Given the description of an element on the screen output the (x, y) to click on. 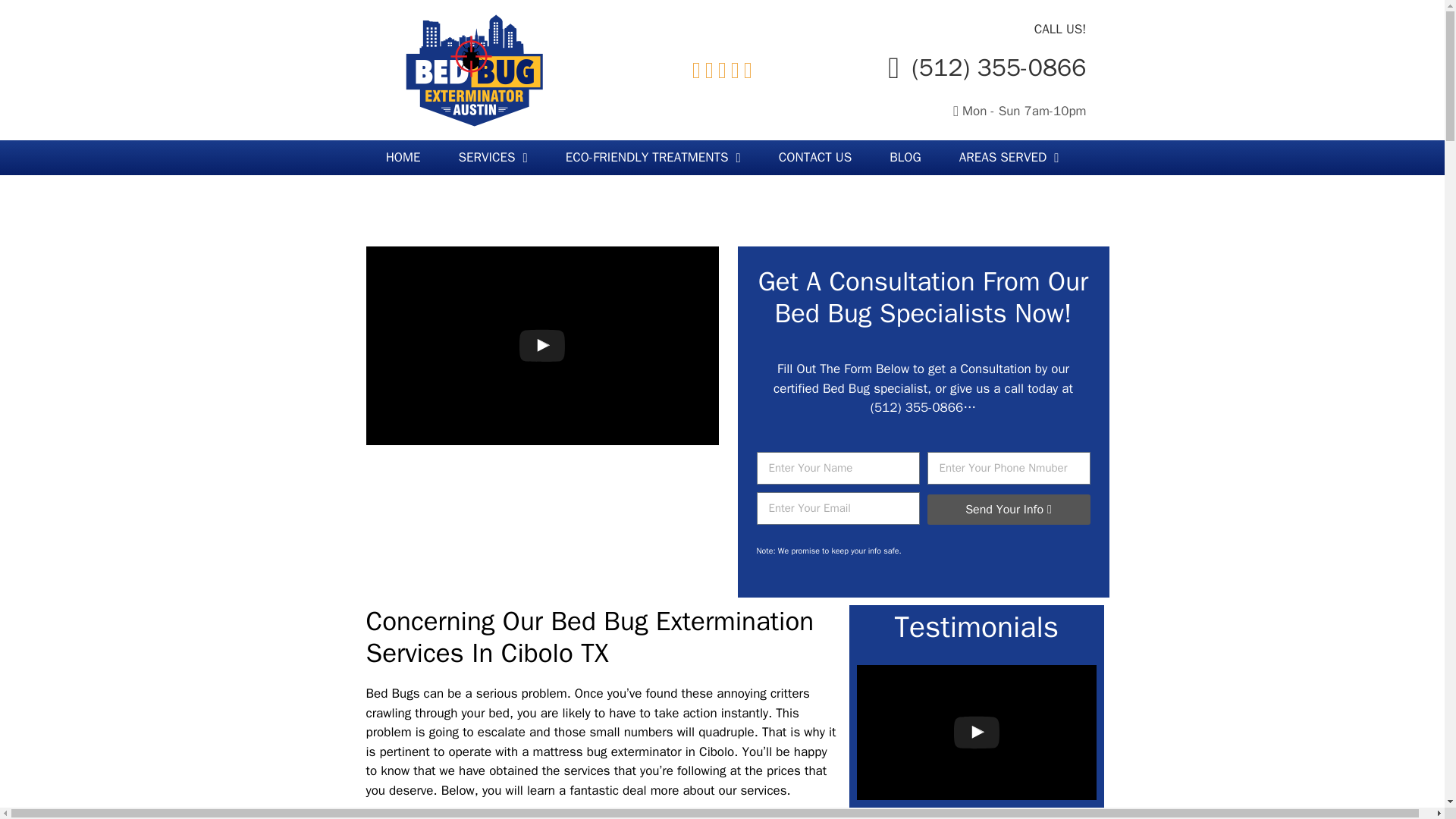
ECO-FRIENDLY TREATMENTS (653, 157)
CONTACT US (815, 157)
BLOG (904, 157)
HOME (402, 157)
AREAS SERVED (1009, 157)
SERVICES (493, 157)
